Given the description of an element on the screen output the (x, y) to click on. 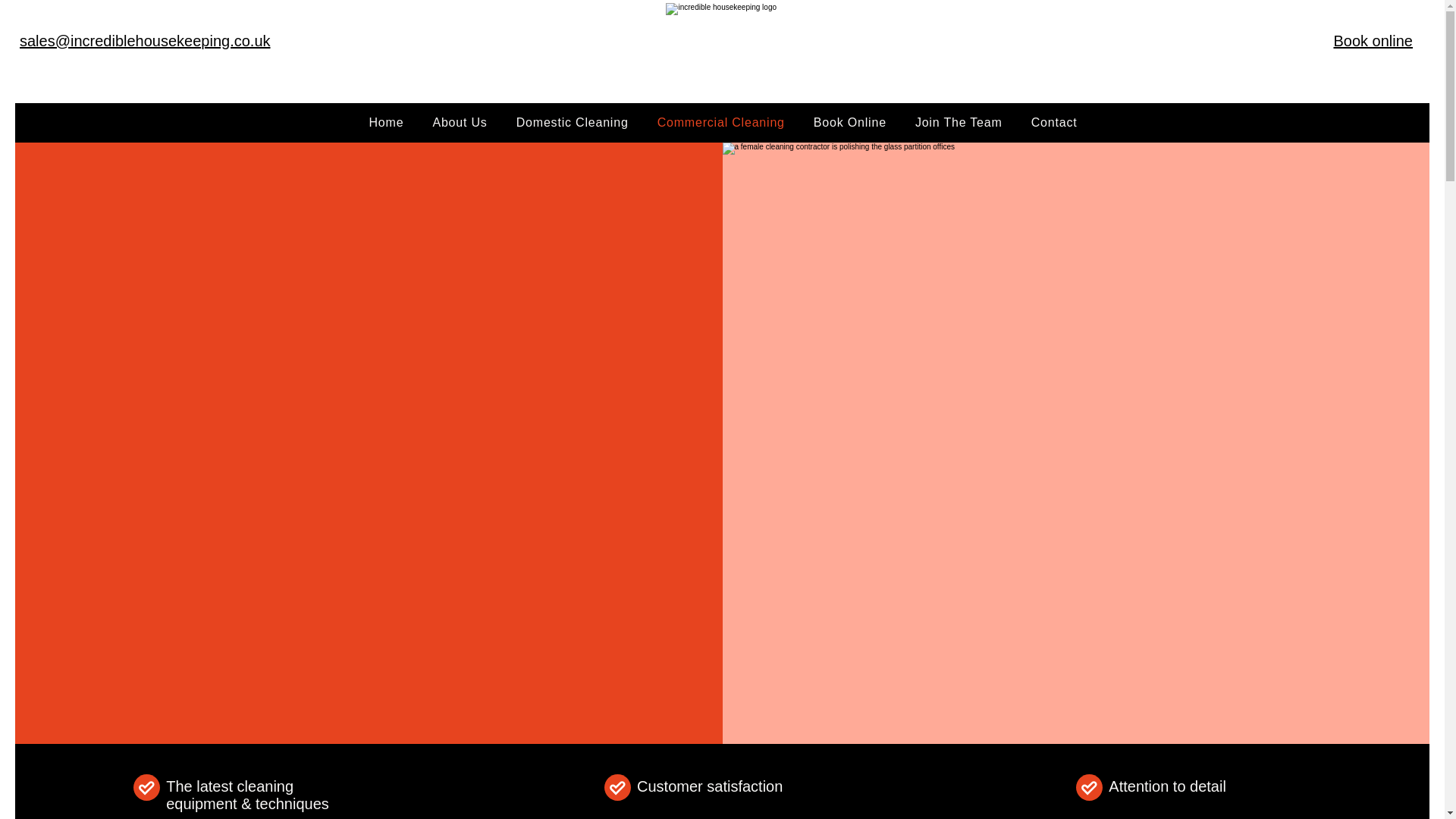
Join The Team (958, 122)
Domestic Cleaning (572, 122)
Book online (1372, 40)
Commercial Cleaning (721, 122)
About Us (458, 122)
Contact (1054, 122)
Home (386, 122)
Book Online (850, 122)
